Given the description of an element on the screen output the (x, y) to click on. 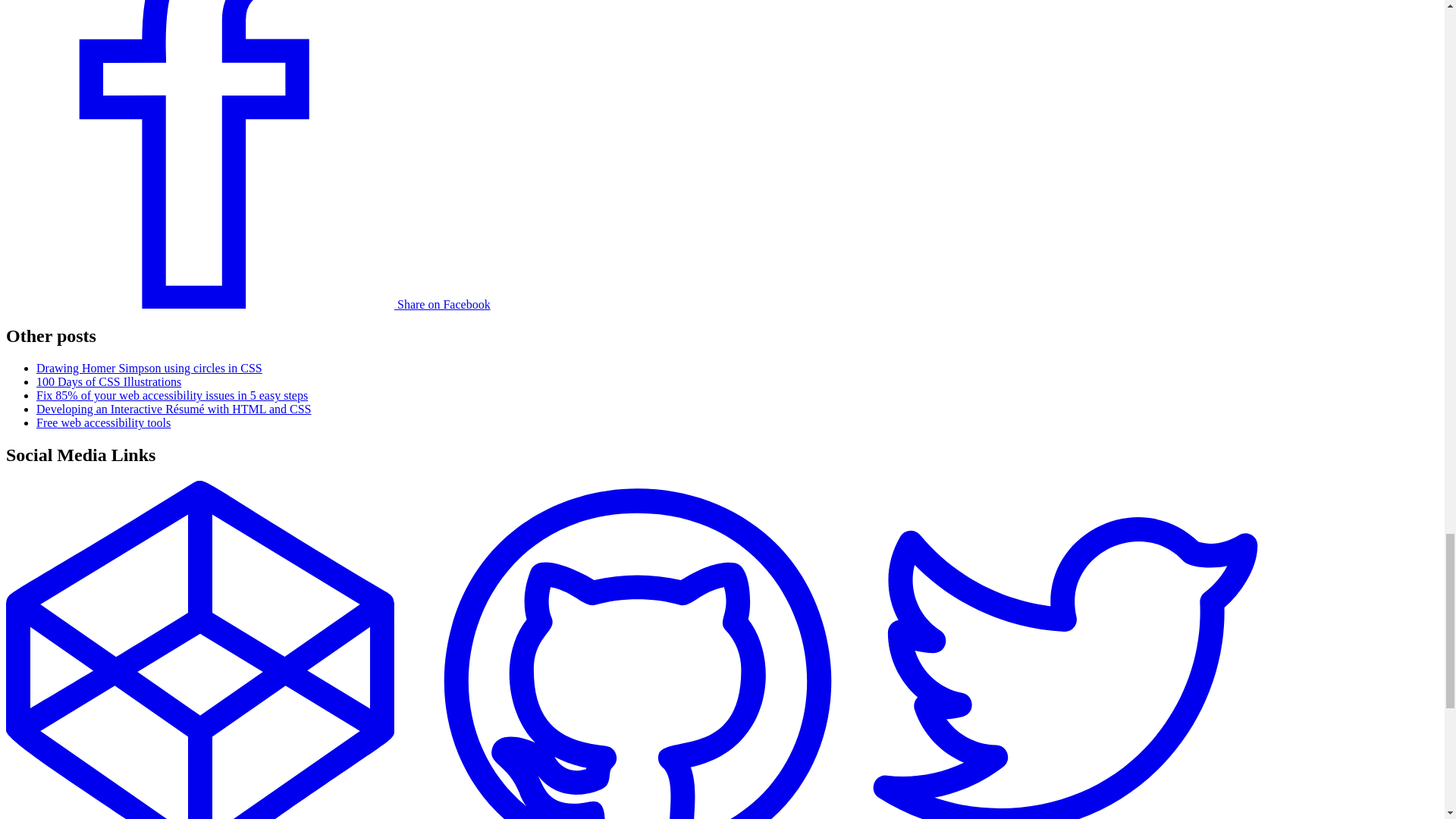
Share on Facebook (247, 304)
100 Days of CSS Illustrations (108, 381)
Drawing Homer Simpson using circles in CSS (149, 367)
Free web accessibility tools (103, 422)
Share on Facebook (247, 304)
